Given the description of an element on the screen output the (x, y) to click on. 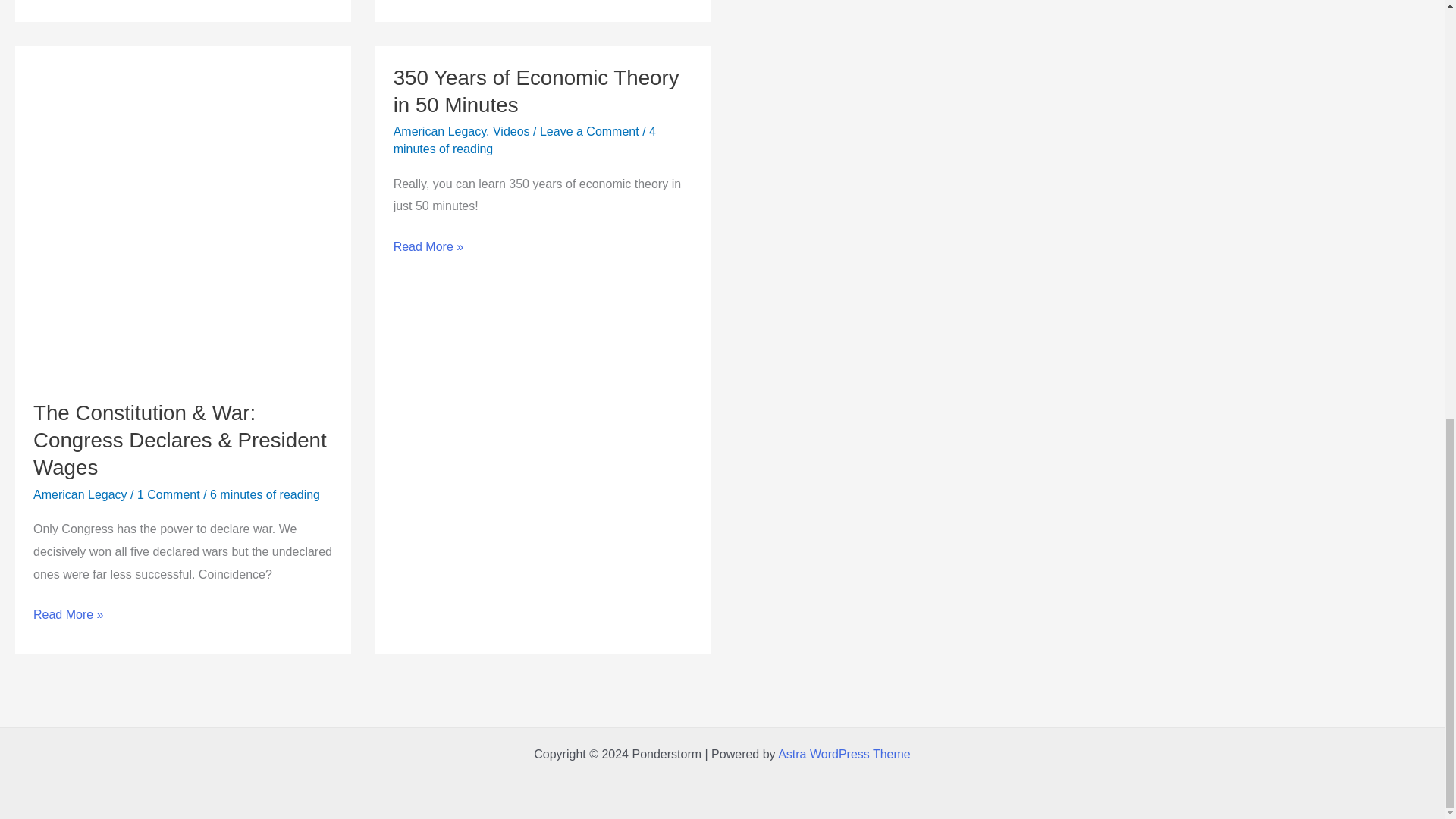
1 Comment (168, 494)
Leave a Comment (589, 131)
350 Years of Economic Theory in 50 Minutes (536, 91)
American Legacy (439, 131)
American Legacy (80, 494)
Videos (511, 131)
